Given the description of an element on the screen output the (x, y) to click on. 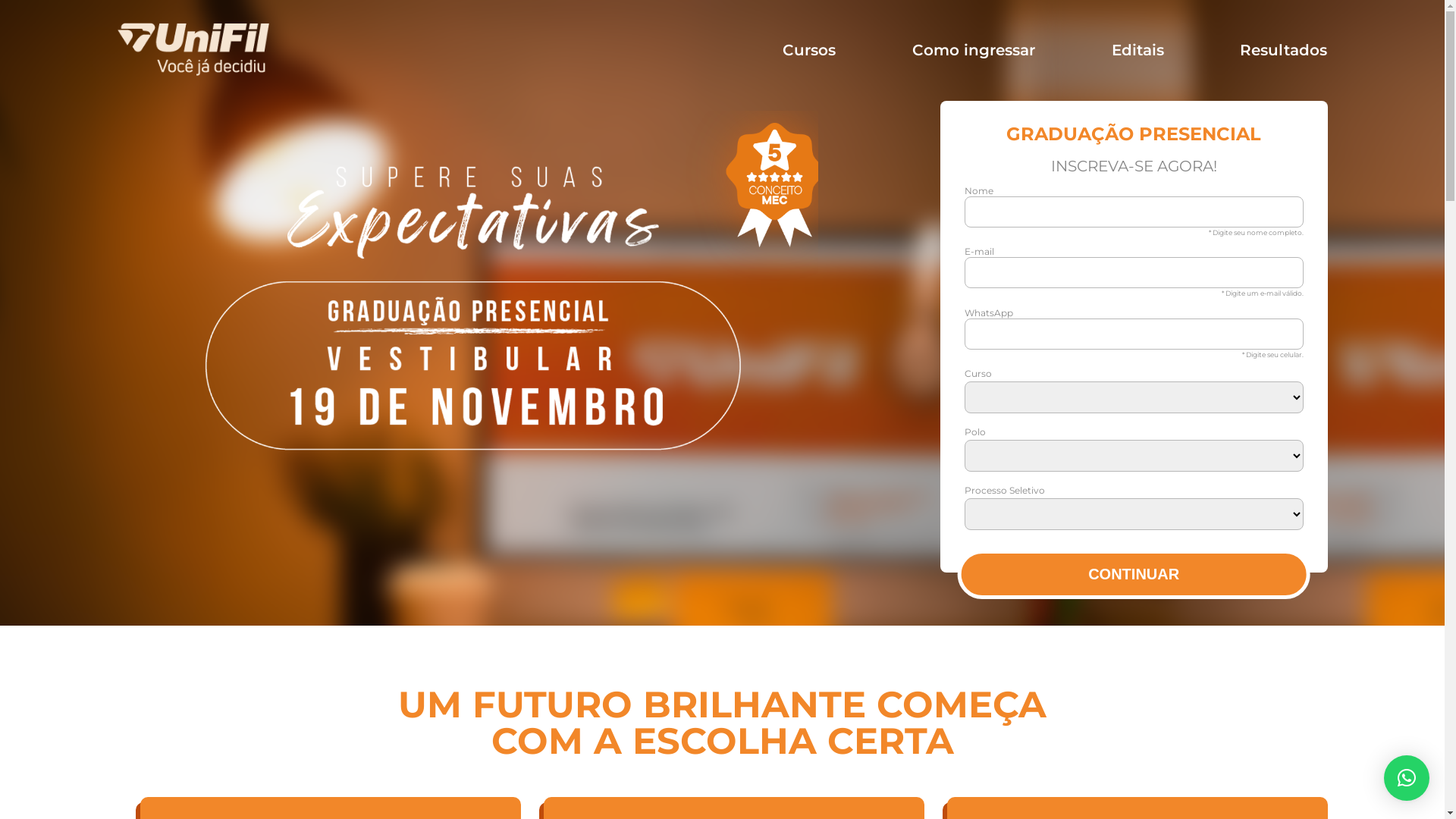
Resultados Element type: text (1283, 49)
Editais Element type: text (1137, 49)
Cursos Element type: text (808, 49)
Continuar Element type: text (1133, 574)
Como ingressar Element type: text (973, 49)
Insira o nome completo Element type: hover (1133, 211)
